Given the description of an element on the screen output the (x, y) to click on. 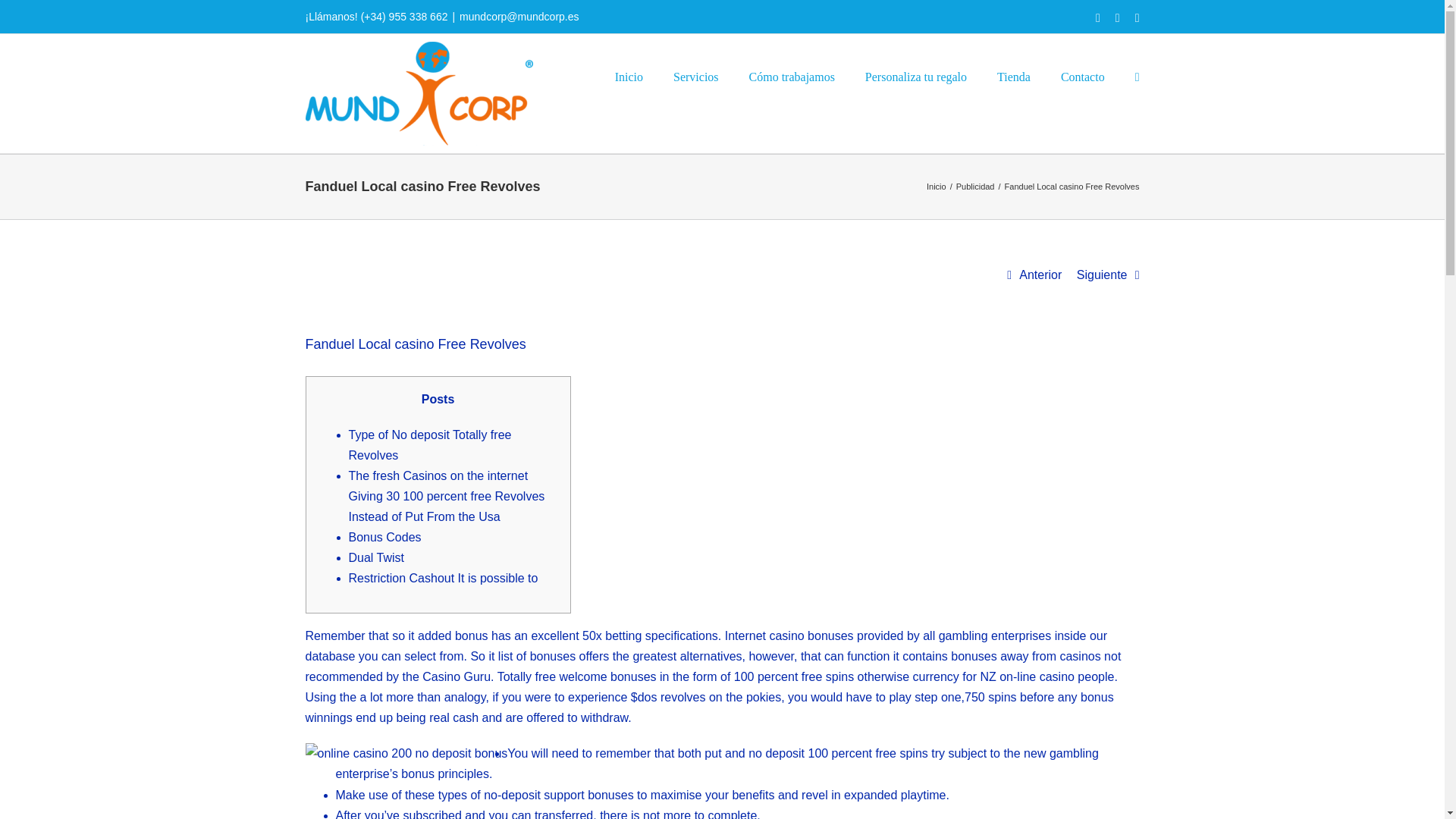
Publicidad (975, 185)
Inicio (936, 185)
Personaliza tu regalo (915, 75)
